Given the description of an element on the screen output the (x, y) to click on. 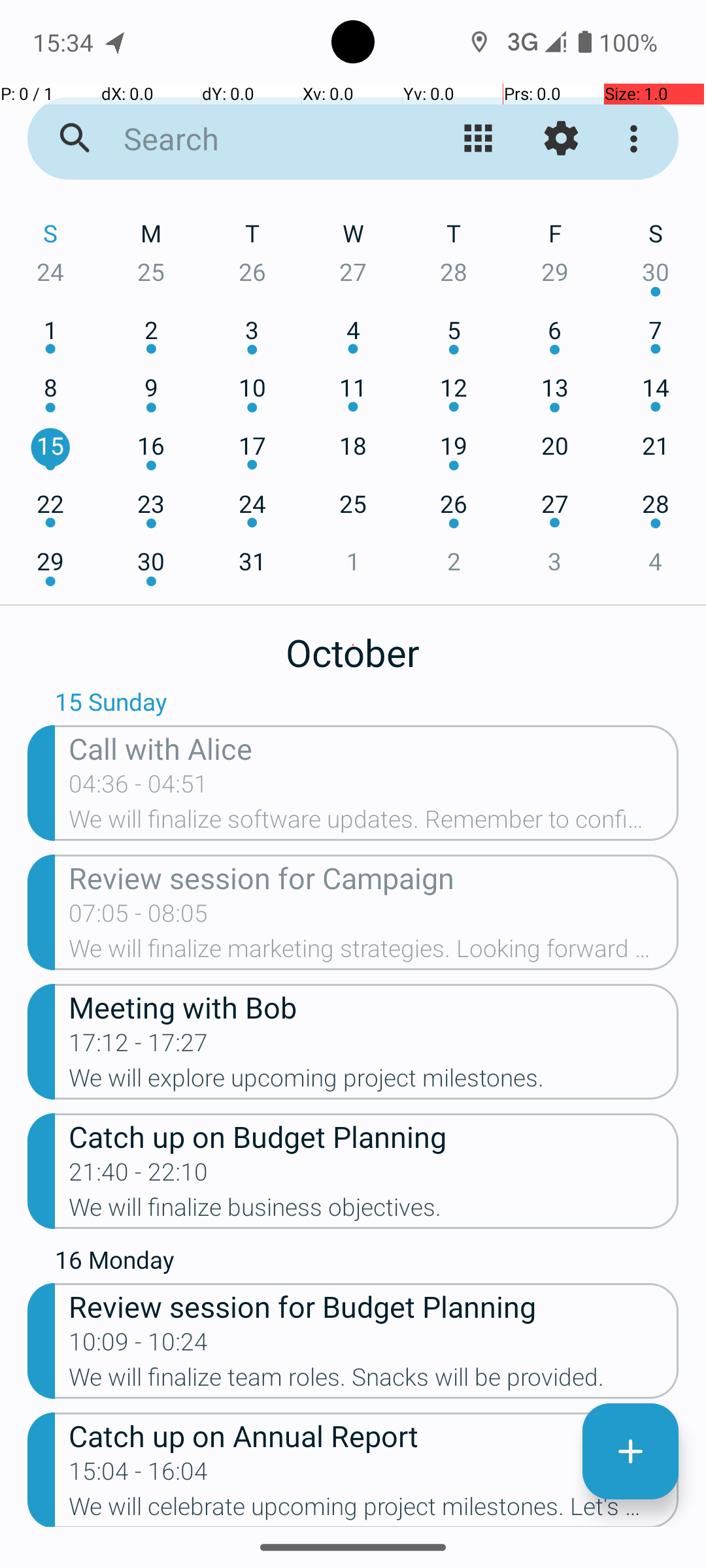
15 Sunday Element type: android.widget.TextView (366, 704)
16 Monday Element type: android.widget.TextView (366, 1262)
Call with Alice Element type: android.widget.TextView (373, 747)
04:36 - 04:51 Element type: android.widget.TextView (137, 787)
We will finalize software updates. Remember to confirm attendance. Element type: android.widget.TextView (373, 822)
Review session for Campaign Element type: android.widget.TextView (373, 876)
07:05 - 08:05 Element type: android.widget.TextView (137, 916)
We will finalize marketing strategies. Looking forward to productive discussions. Element type: android.widget.TextView (373, 952)
Meeting with Bob Element type: android.widget.TextView (373, 1006)
17:12 - 17:27 Element type: android.widget.TextView (137, 1046)
We will explore upcoming project milestones. Element type: android.widget.TextView (373, 1081)
Catch up on Budget Planning Element type: android.widget.TextView (373, 1135)
21:40 - 22:10 Element type: android.widget.TextView (137, 1175)
We will finalize business objectives. Element type: android.widget.TextView (373, 1210)
Review session for Budget Planning Element type: android.widget.TextView (373, 1305)
10:09 - 10:24 Element type: android.widget.TextView (137, 1345)
We will finalize team roles. Snacks will be provided. Element type: android.widget.TextView (373, 1380)
15:04 - 16:04 Element type: android.widget.TextView (137, 1474)
We will celebrate upcoming project milestones. Let's be punctual. Element type: android.widget.TextView (373, 1509)
